Given the description of an element on the screen output the (x, y) to click on. 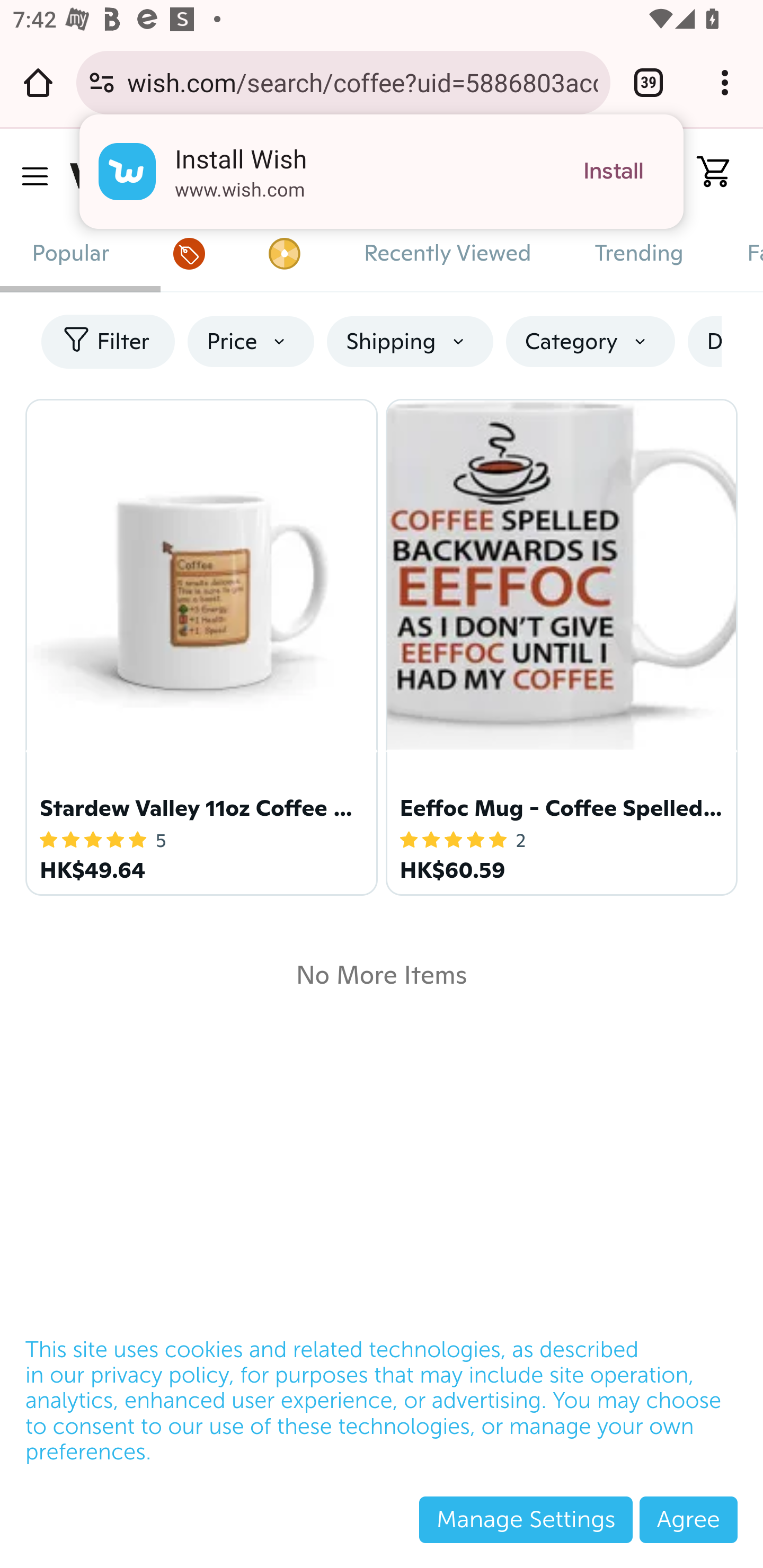
Open the home page (38, 82)
Connection is secure (101, 82)
Switch or close tabs (648, 82)
Customize and control Google Chrome (724, 82)
Shopping Cart: 0 items (705, 171)
Main Menu (34, 176)
Deals Hub (188, 252)
blitz_buy__tab (283, 252)
Popular (70, 252)
Recently Viewed (447, 252)
Trending (638, 252)
Manage Settings (526, 1518)
Agree (688, 1518)
